Given the description of an element on the screen output the (x, y) to click on. 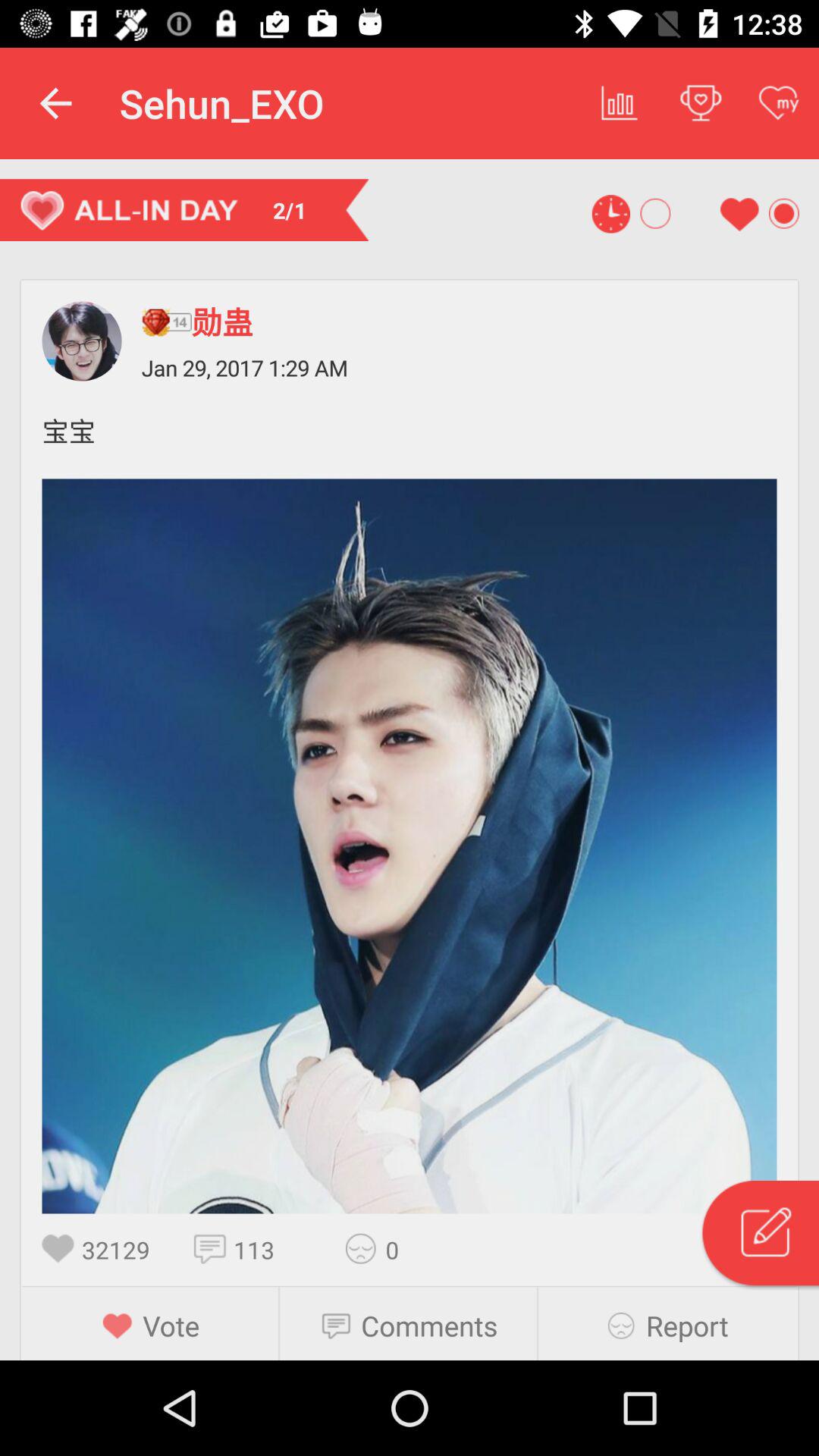
select the icon below 2/1 (166, 322)
